Given the description of an element on the screen output the (x, y) to click on. 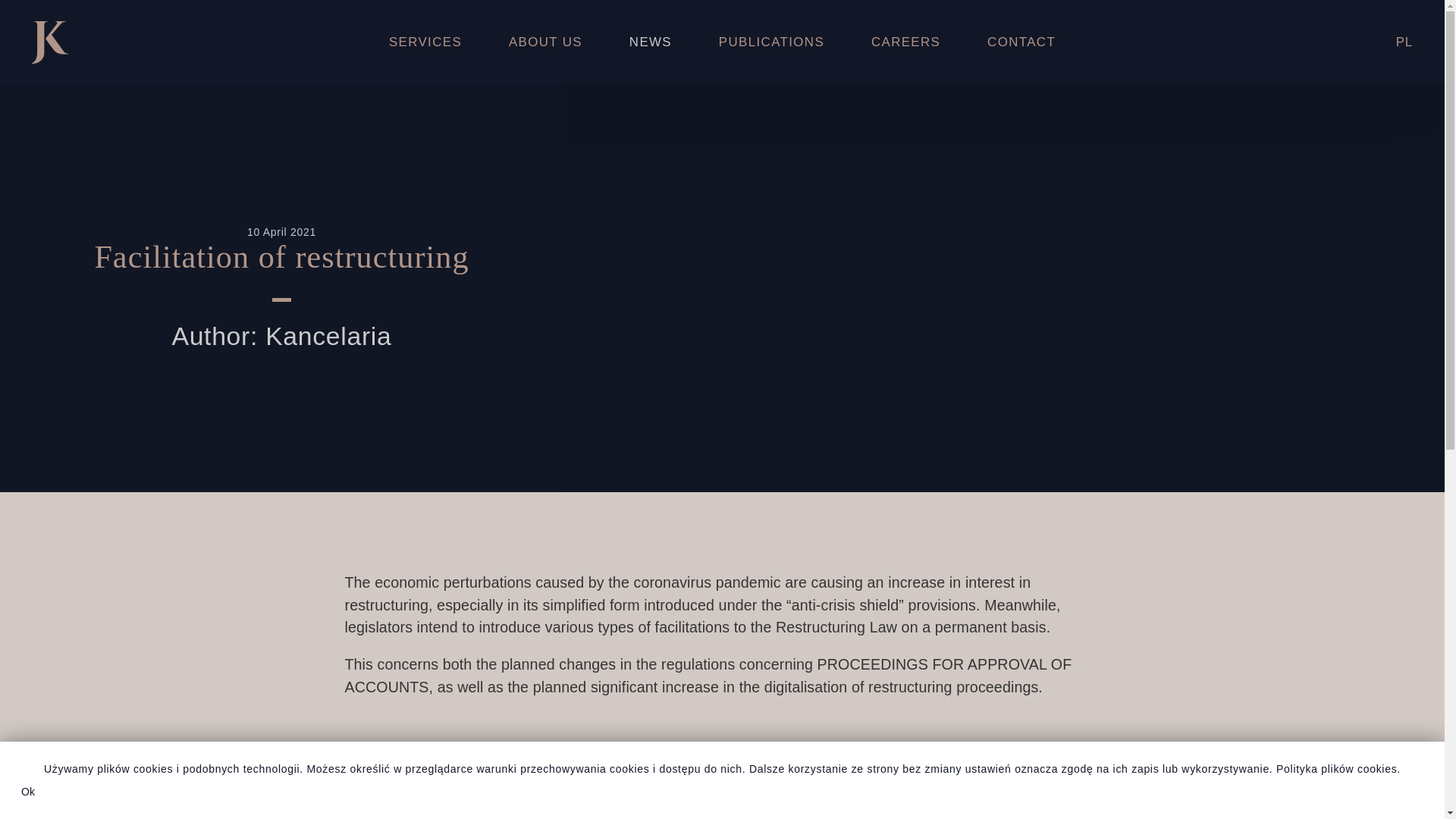
PUBLICATIONS (771, 42)
Ok (27, 791)
PL (1404, 42)
NEWS (650, 42)
ABOUT US (544, 42)
CONTACT (1020, 42)
CAREERS (905, 42)
SERVICES (424, 42)
